Given the description of an element on the screen output the (x, y) to click on. 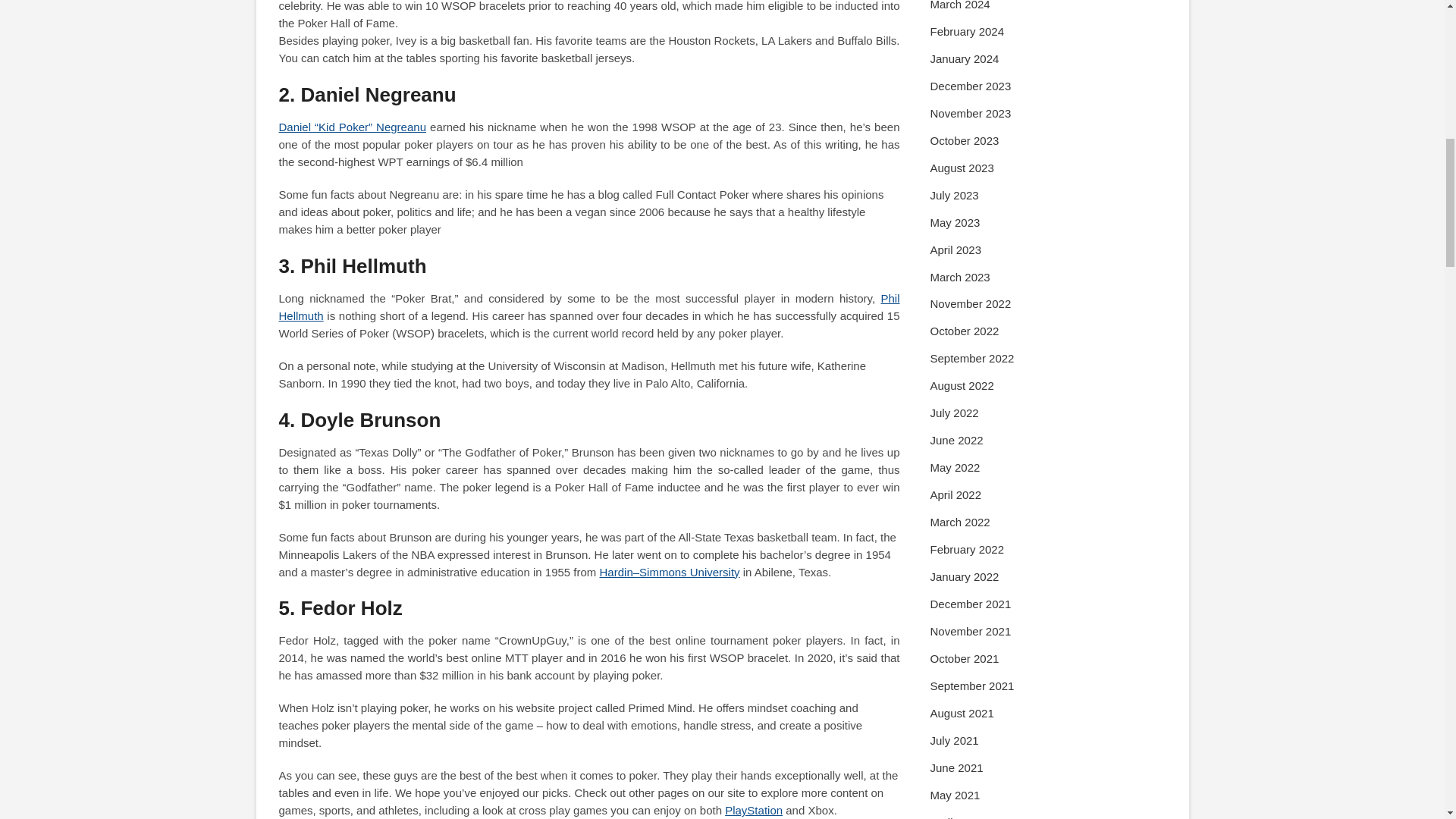
March 2024 (960, 5)
Phil Hellmuth (589, 306)
February 2024 (967, 31)
PlayStation (754, 809)
